Given the description of an element on the screen output the (x, y) to click on. 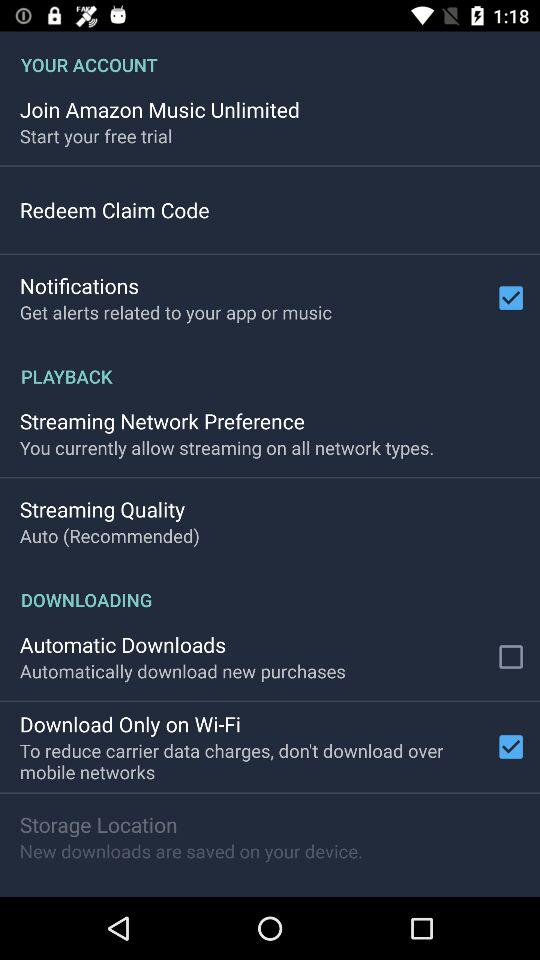
open the your account (270, 54)
